Given the description of an element on the screen output the (x, y) to click on. 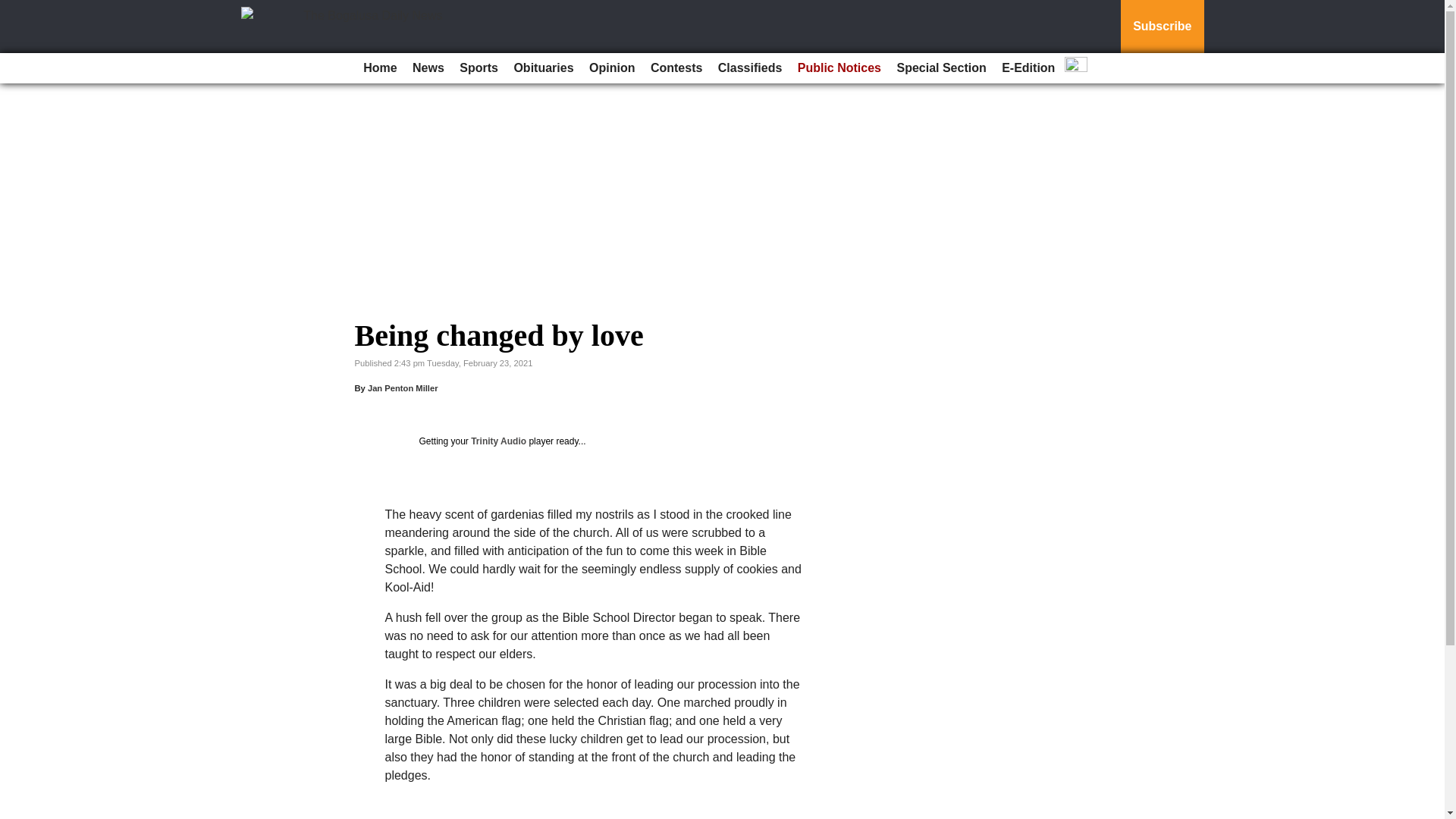
Subscribe (1162, 26)
Trinity Audio (497, 440)
Classifieds (749, 68)
E-Edition (1028, 68)
Go (13, 9)
Opinion (611, 68)
Jan Penton Miller (403, 388)
Obituaries (542, 68)
Sports (477, 68)
News (427, 68)
